Given the description of an element on the screen output the (x, y) to click on. 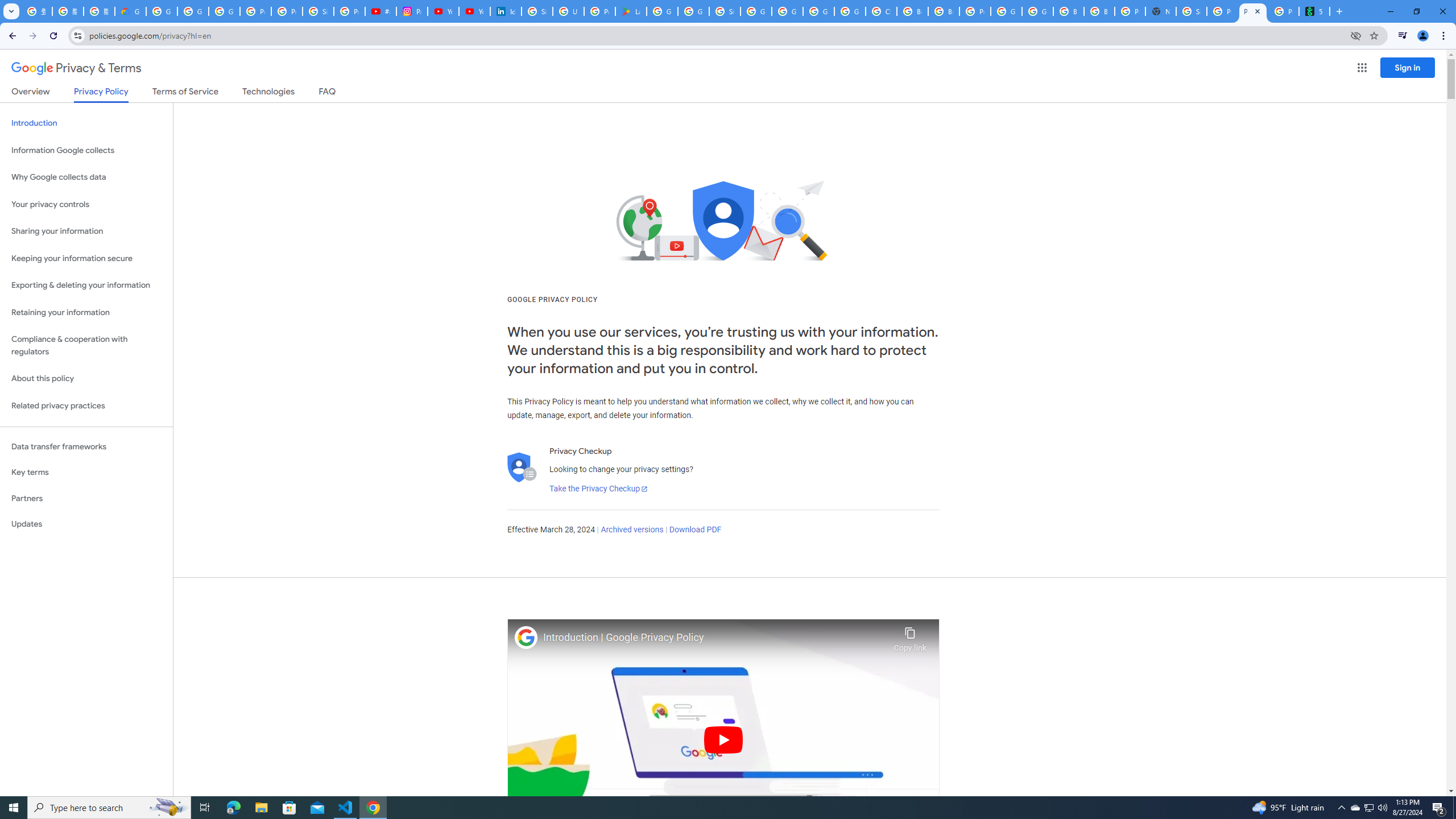
Related privacy practices (86, 405)
